Given the description of an element on the screen output the (x, y) to click on. 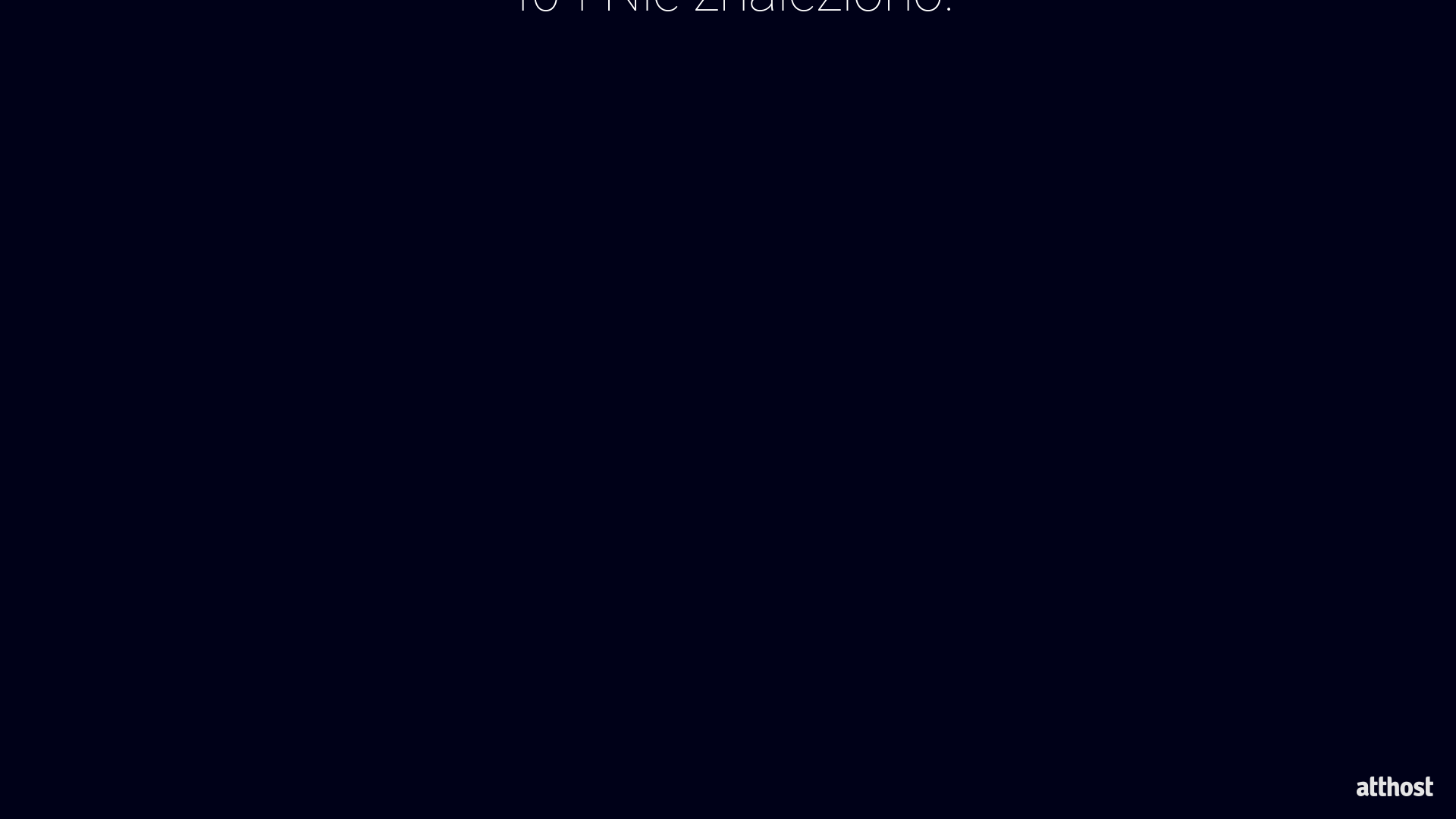
AttHost : Serwery, Domeny, Aplikacje Element type: hover (1394, 786)
